Given the description of an element on the screen output the (x, y) to click on. 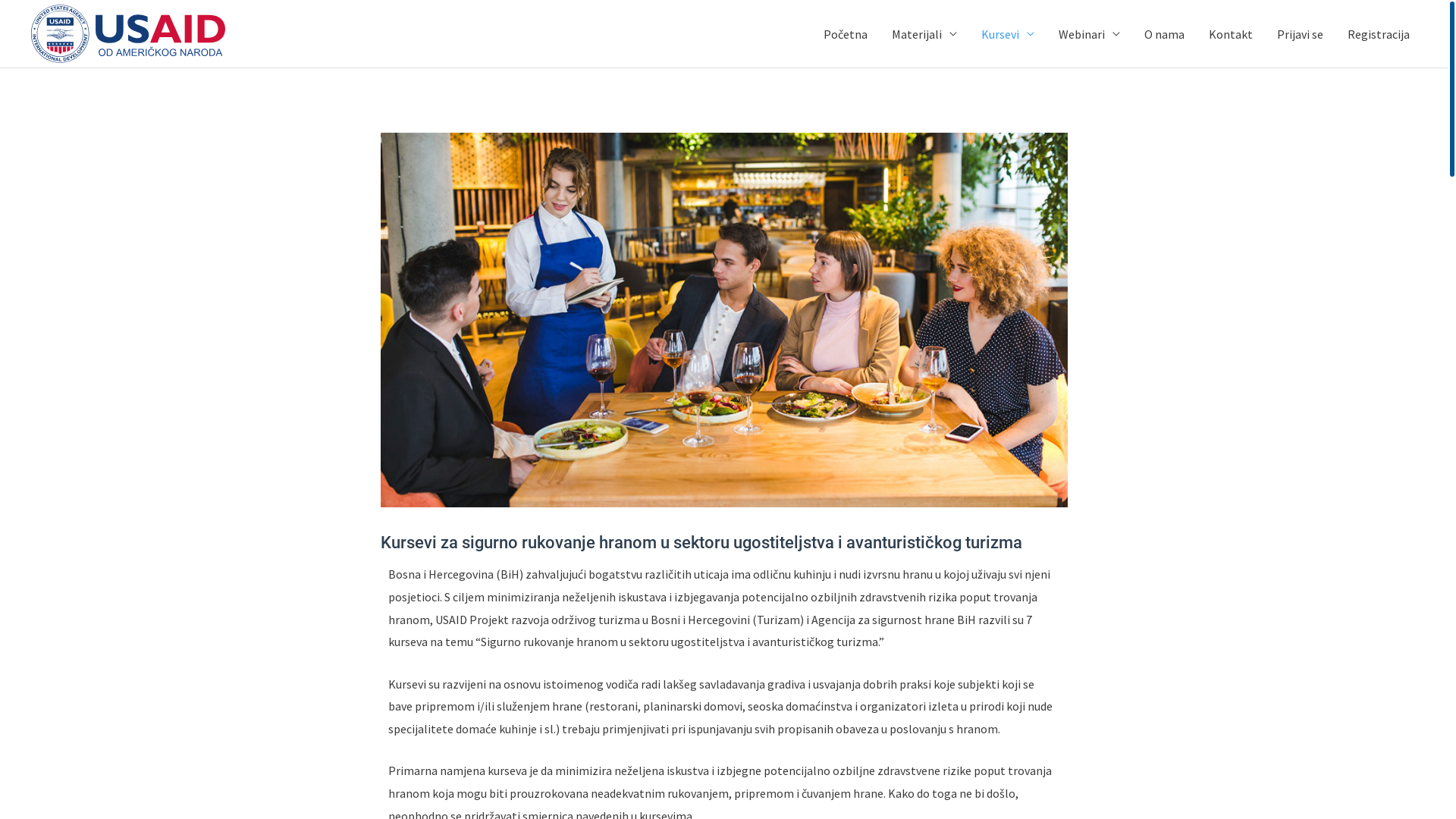
Prijavi se Element type: text (1299, 33)
Kursevi Element type: text (1007, 33)
O nama Element type: text (1164, 33)
Registracija Element type: text (1378, 33)
Webinari Element type: text (1089, 33)
Materijali Element type: text (924, 33)
Kontakt Element type: text (1230, 33)
